Given the description of an element on the screen output the (x, y) to click on. 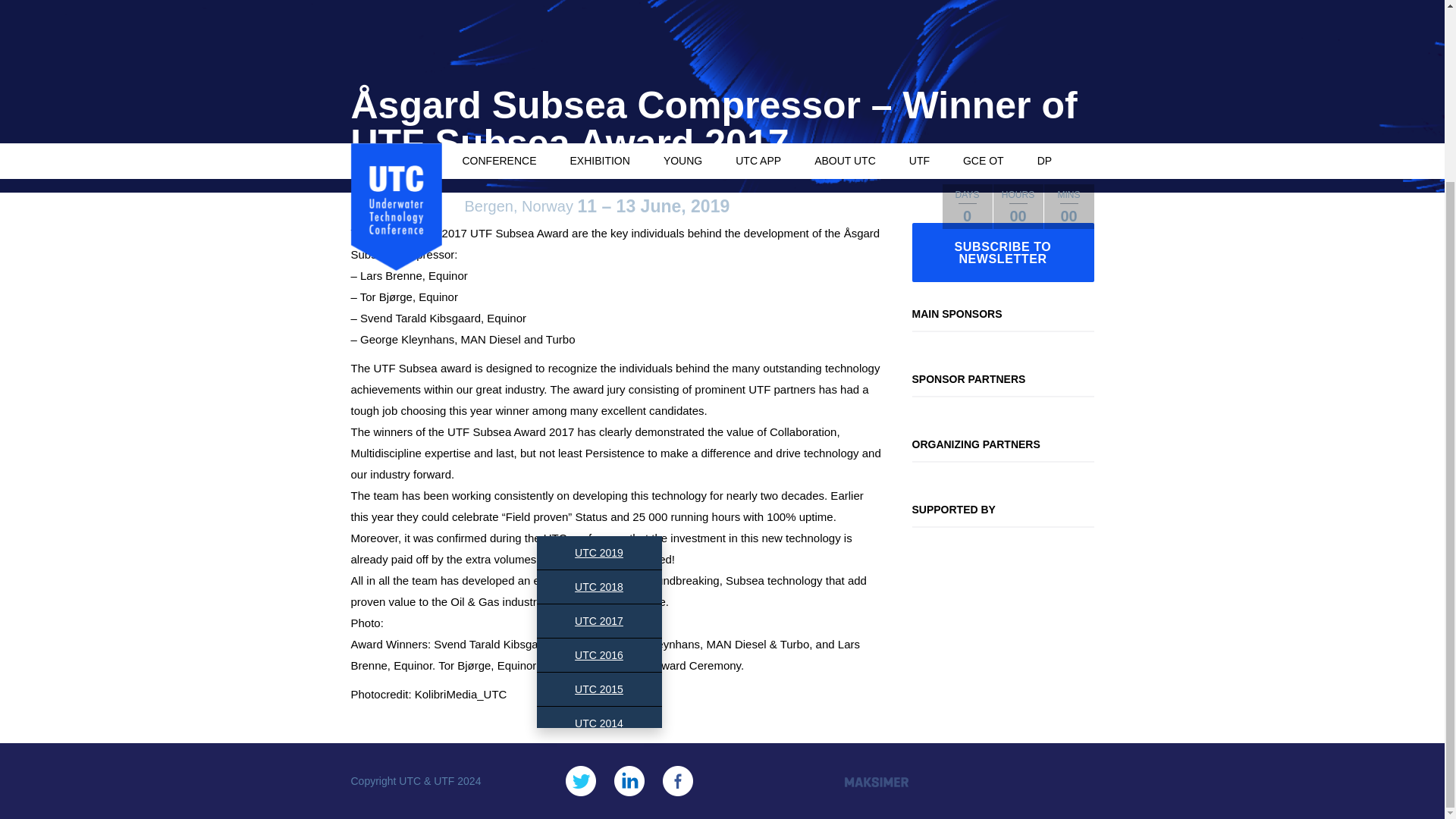
UTC 2016 (599, 654)
UTC 2014 (599, 723)
UTC 2015 (599, 688)
UTC 2018 (599, 586)
UTC 2017 (599, 621)
SUBSCRIBE TO NEWSLETTER (1002, 251)
UTC 2019 (599, 552)
